Given the description of an element on the screen output the (x, y) to click on. 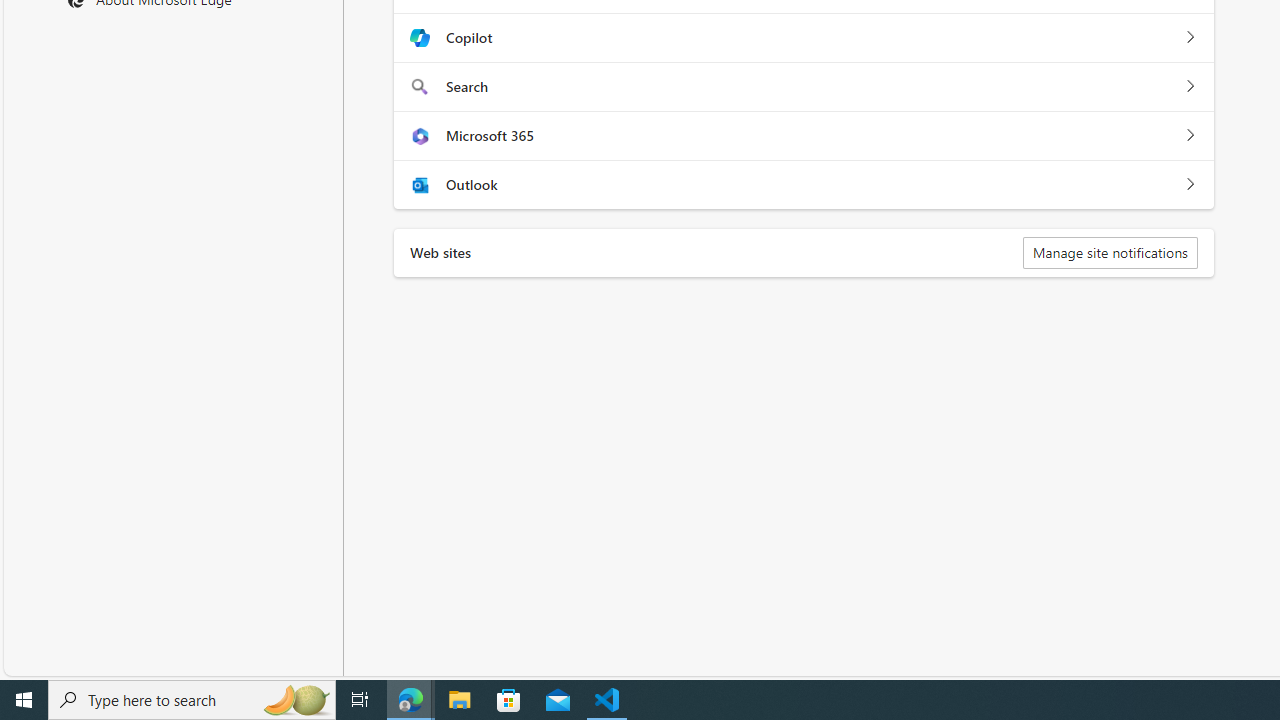
Task View (359, 699)
Type here to search (191, 699)
Microsoft Edge - 2 running windows (411, 699)
Search highlights icon opens search home window (295, 699)
Copilot (1190, 38)
Start (24, 699)
File Explorer (460, 699)
Manage site notifications (1109, 252)
Visual Studio Code - 1 running window (607, 699)
Microsoft Store (509, 699)
